Given the description of an element on the screen output the (x, y) to click on. 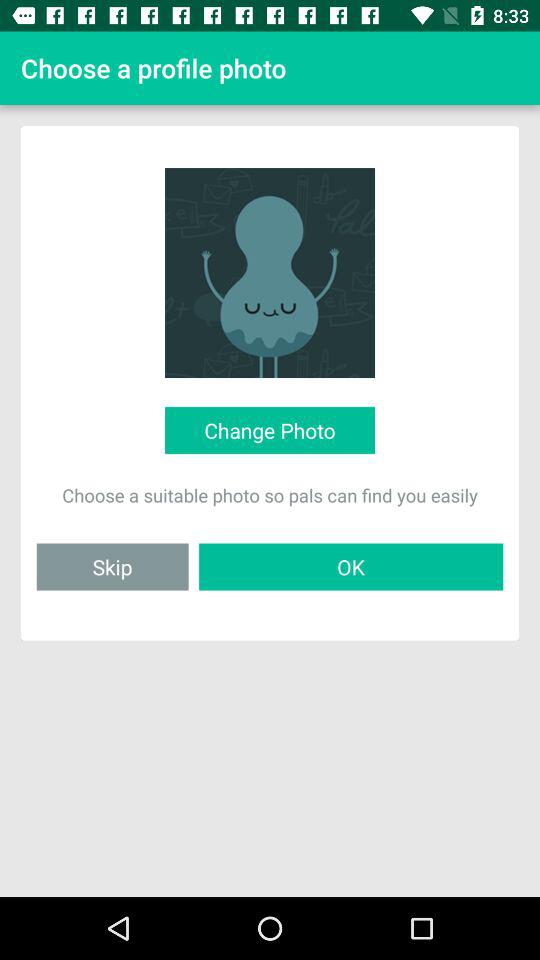
open the change photo (269, 430)
